Given the description of an element on the screen output the (x, y) to click on. 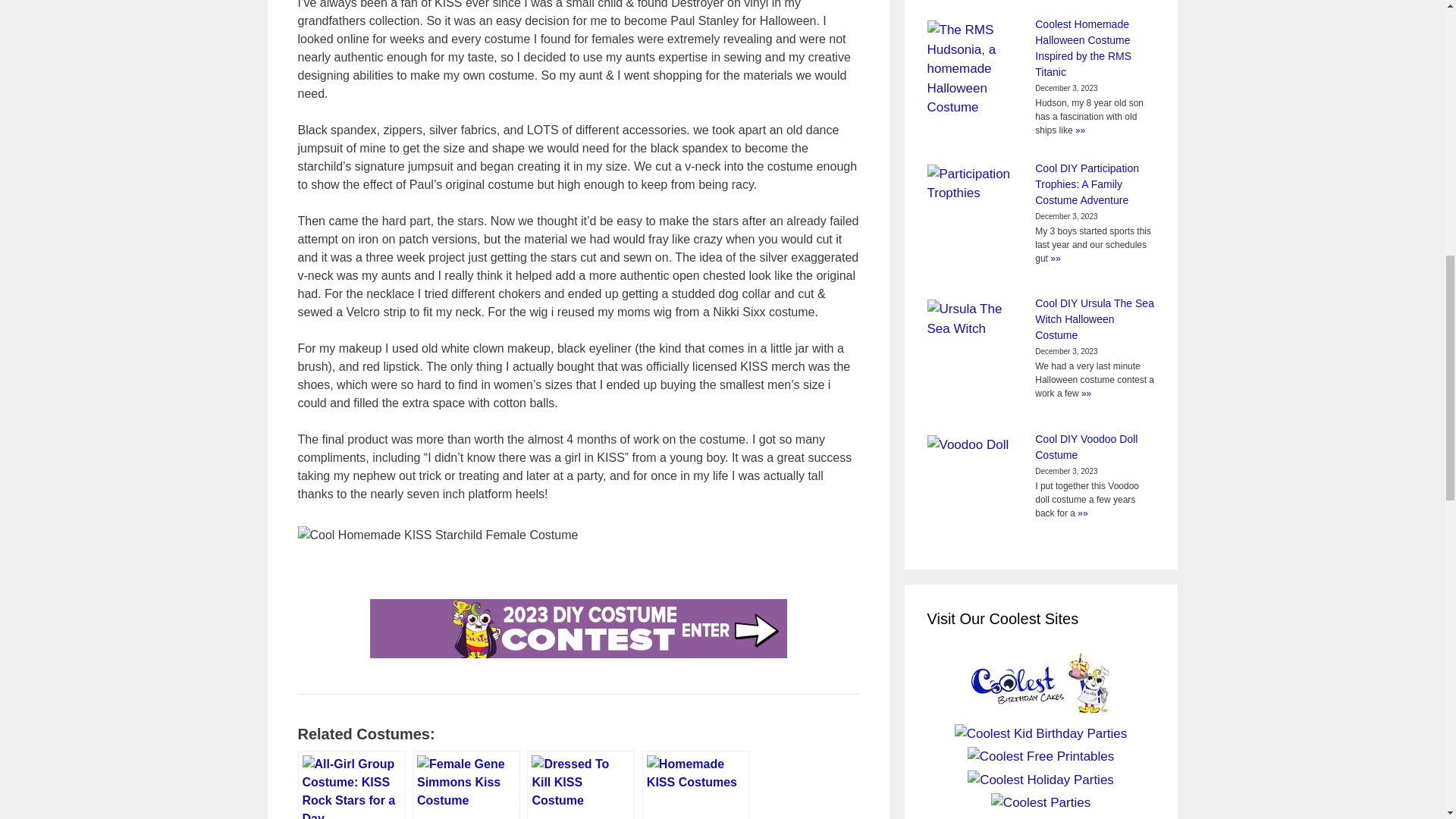
Cool Female Gene Simmons Kiss Costume (465, 785)
Cool Homemade KISS Costume Ideas (695, 785)
Dressed To Kill KISS Costume (580, 785)
All-Girl Group Costume: KISS Rock Stars for a Day (350, 785)
